Given the description of an element on the screen output the (x, y) to click on. 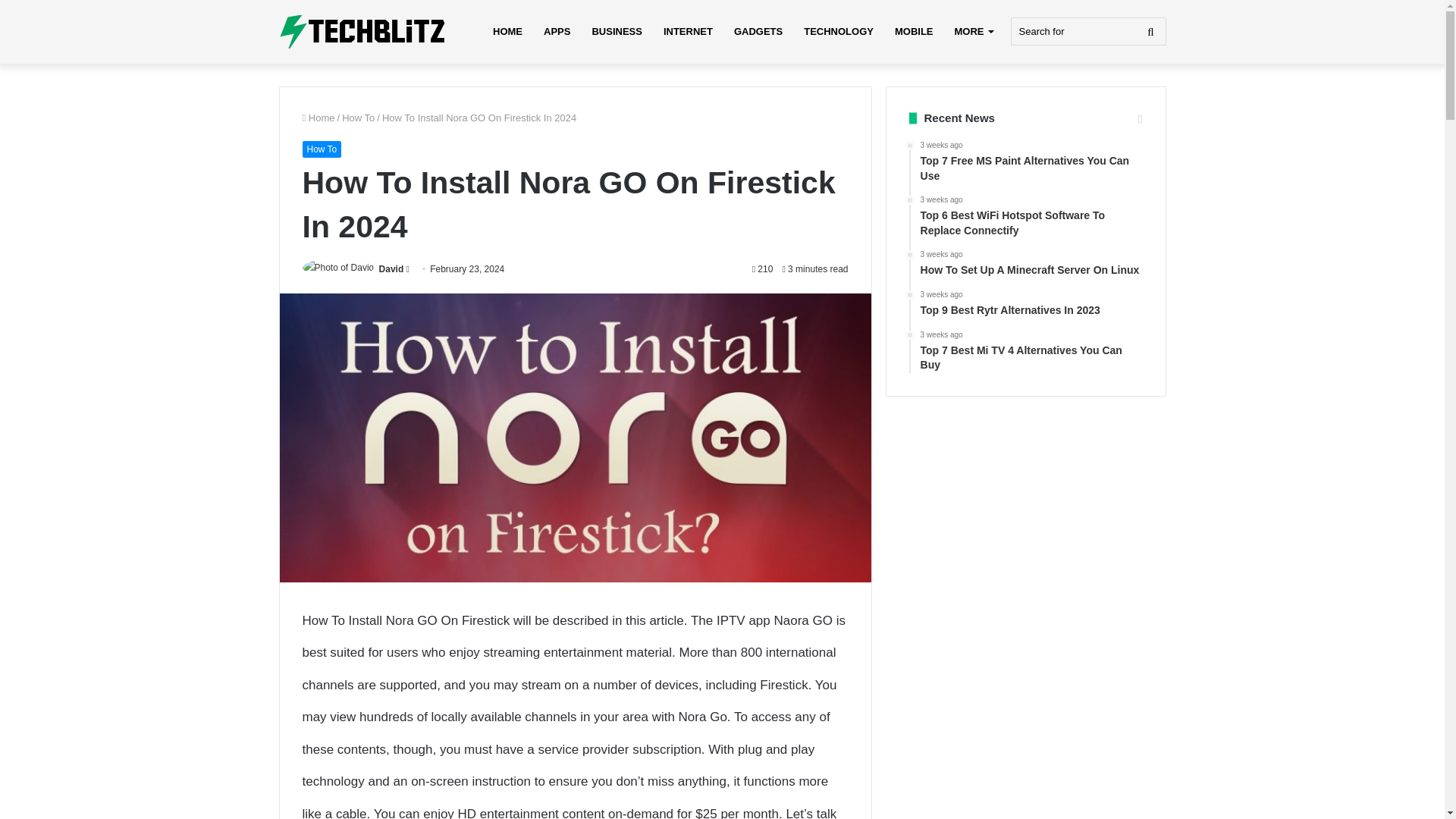
David (391, 268)
Home (317, 117)
TechBlitz (362, 31)
How To (320, 149)
How To (358, 117)
MORE (973, 31)
TECHNOLOGY (838, 31)
David (391, 268)
GADGETS (758, 31)
Search for (1088, 31)
